Given the description of an element on the screen output the (x, y) to click on. 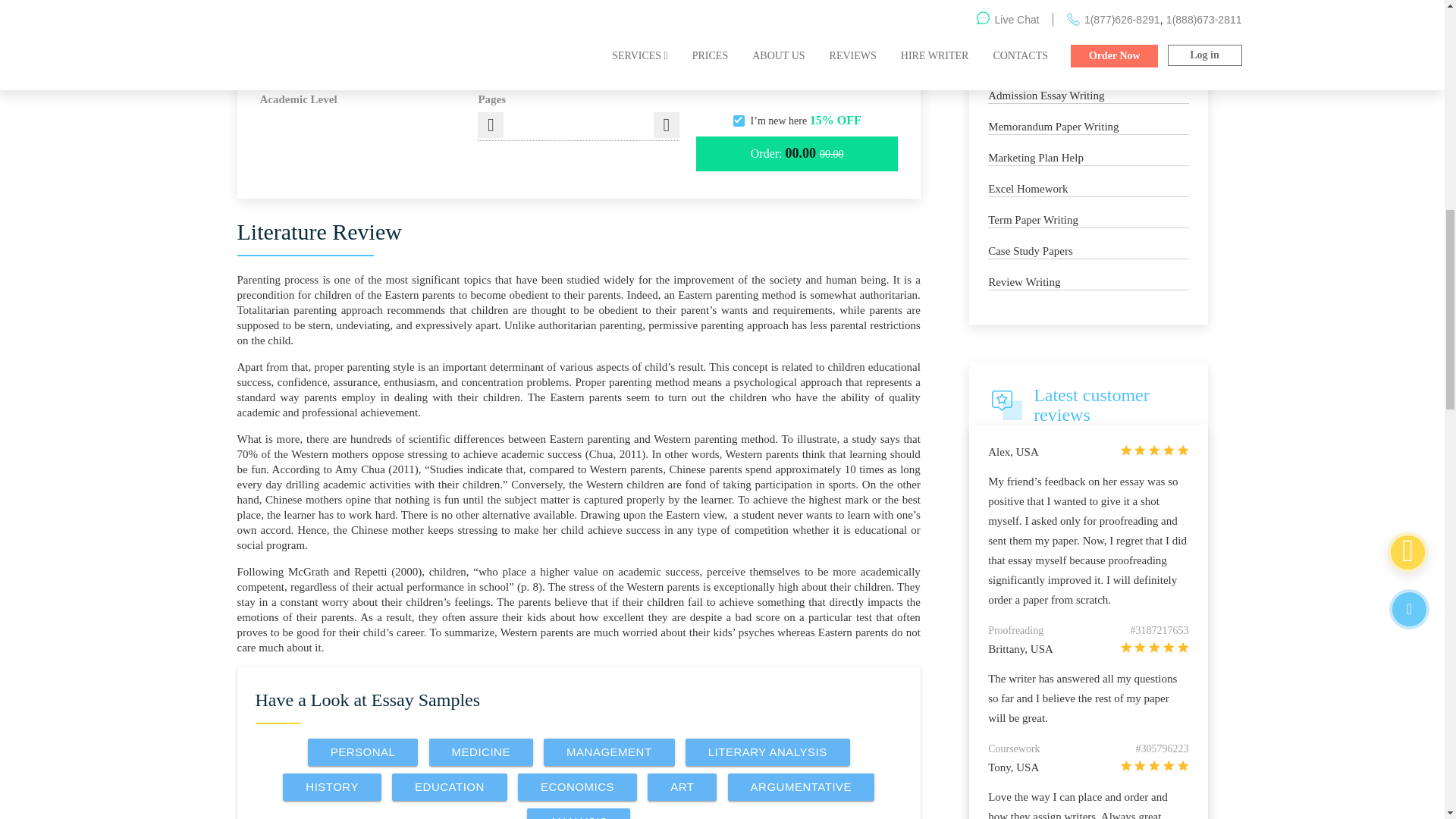
Minus (490, 125)
Parenting Approaches: East vs. West (577, 39)
Plus (666, 125)
